Given the description of an element on the screen output the (x, y) to click on. 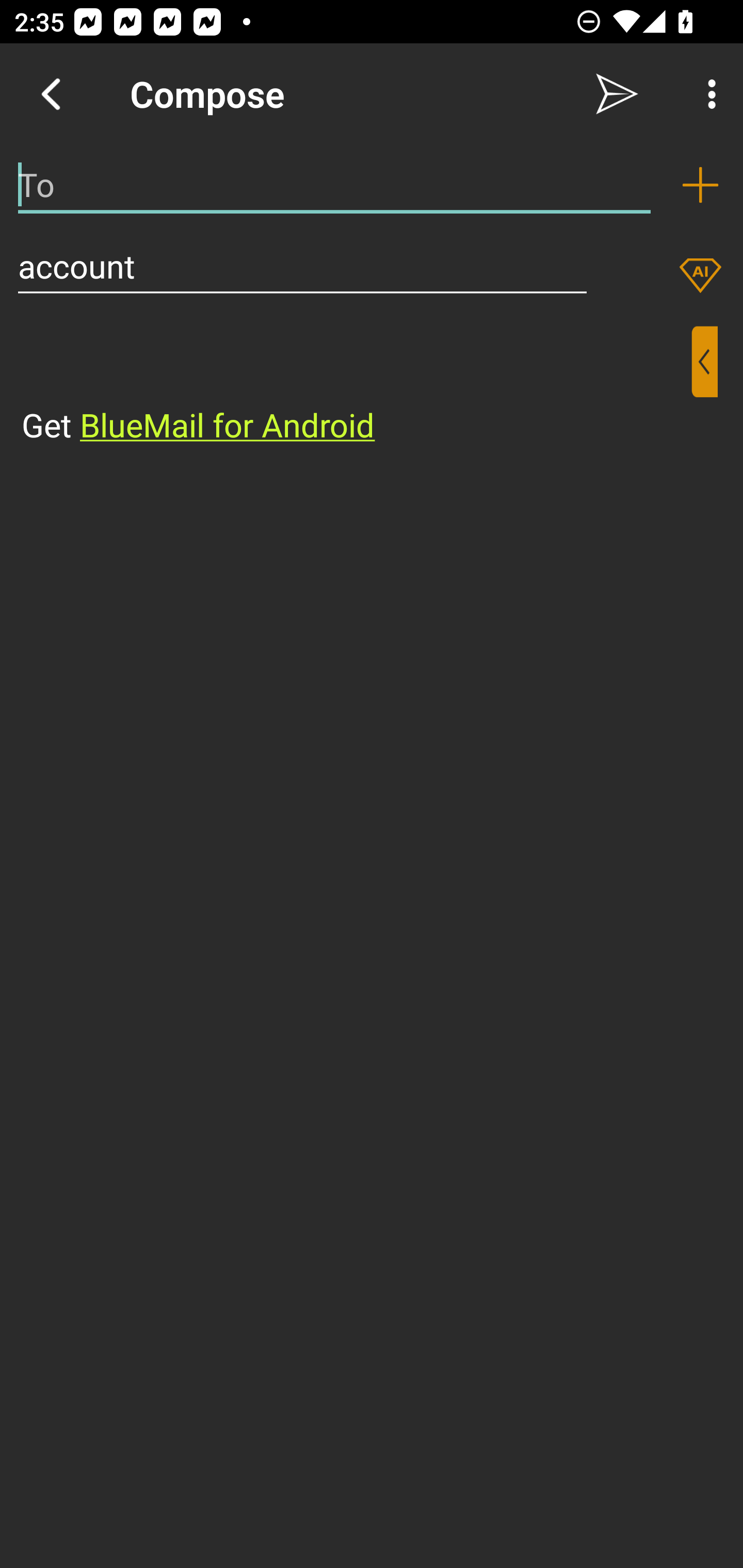
Navigate up (50, 93)
Send (616, 93)
More Options (706, 93)
To (334, 184)
Add recipient (To) (699, 184)
account (302, 266)


⁣Get BlueMail for Android ​ (355, 386)
